Given the description of an element on the screen output the (x, y) to click on. 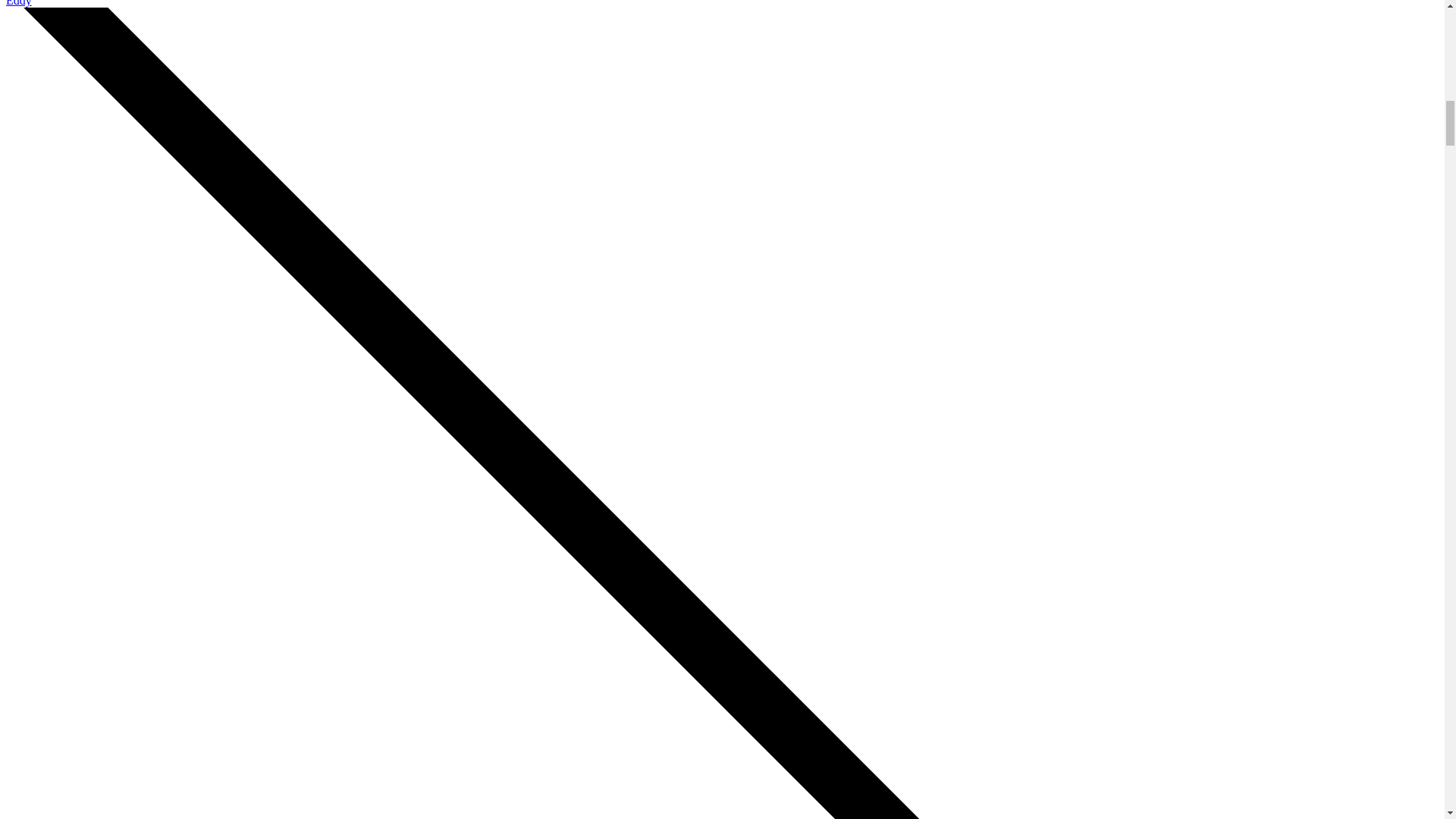
Eddy (18, 3)
